Given the description of an element on the screen output the (x, y) to click on. 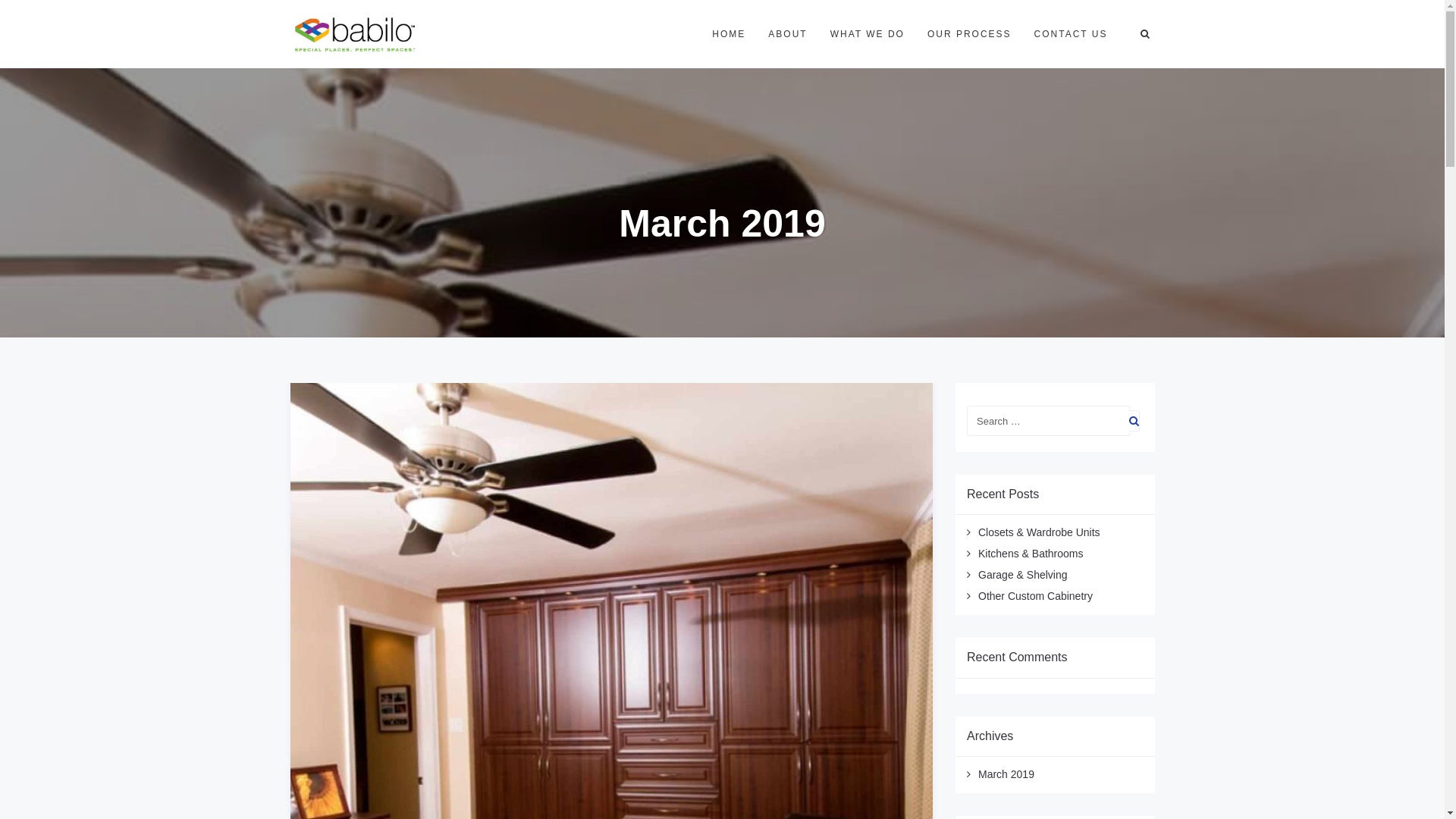
Garage & Shelving Element type: text (1022, 574)
ABOUT Element type: text (787, 34)
March 2019 Element type: text (1006, 774)
Closets & Wardrobe Units Element type: text (1039, 532)
HOME Element type: text (728, 34)
Kitchens & Bathrooms Element type: text (1030, 553)
OUR PROCESS Element type: text (969, 34)
CONTACT US Element type: text (1070, 34)
Other Custom Cabinetry Element type: text (1035, 595)
WHAT WE DO Element type: text (867, 34)
